Given the description of an element on the screen output the (x, y) to click on. 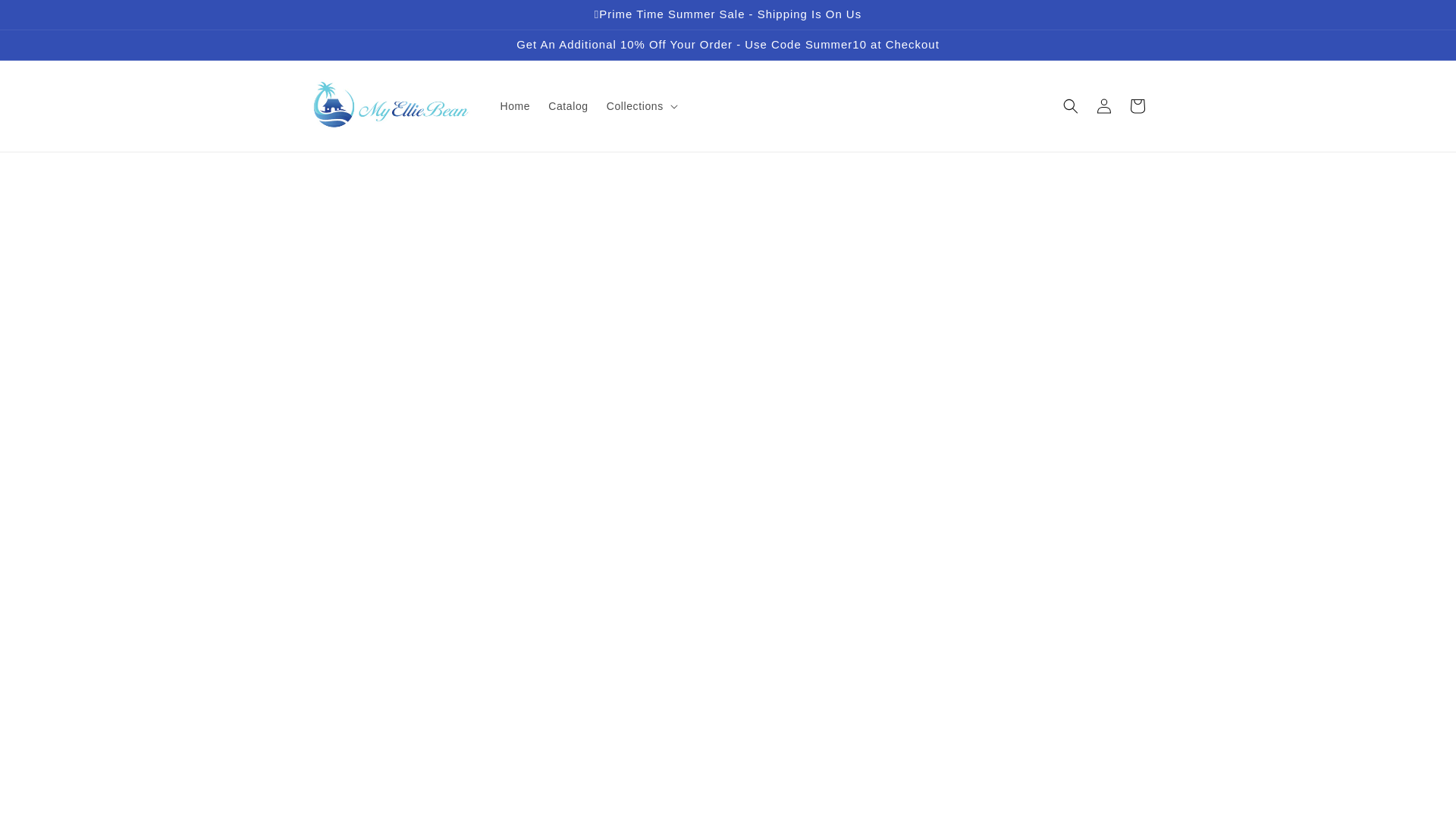
Log in (1104, 105)
Cart (1137, 105)
Catalog (567, 106)
Skip to content (47, 18)
Home (516, 106)
